Given the description of an element on the screen output the (x, y) to click on. 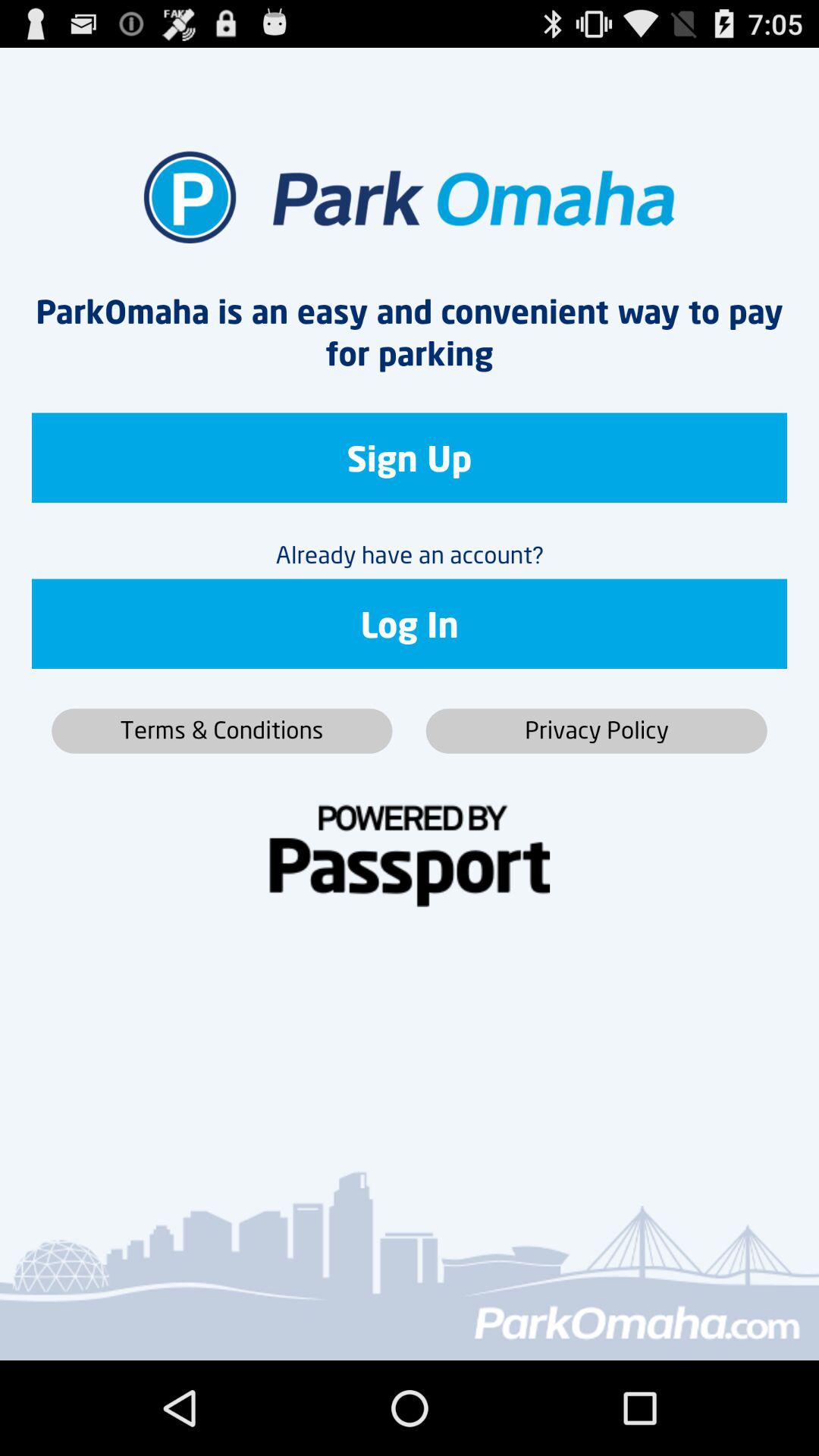
select the icon below the already have an icon (409, 623)
